Given the description of an element on the screen output the (x, y) to click on. 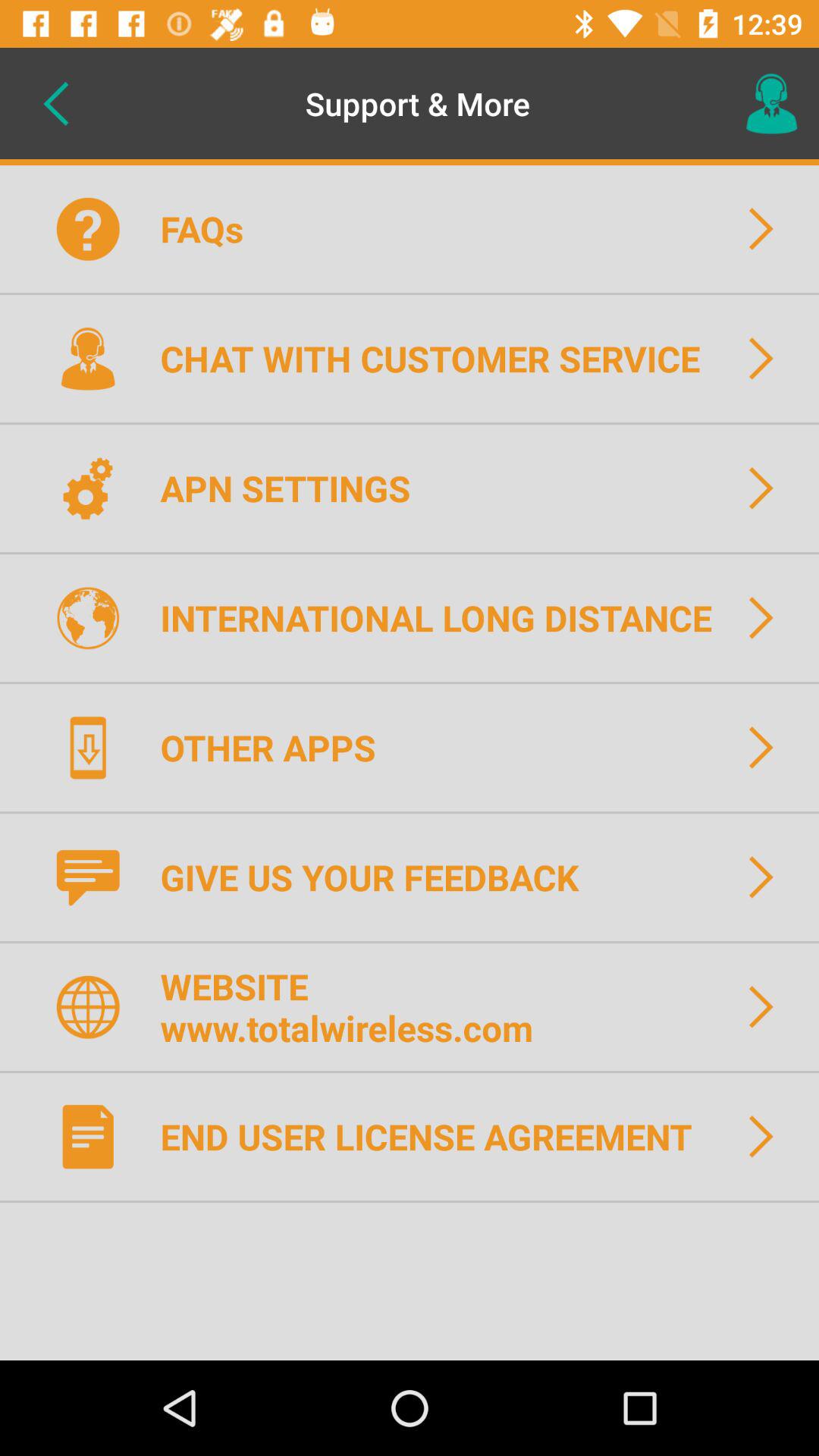
swipe until other apps (277, 747)
